Given the description of an element on the screen output the (x, y) to click on. 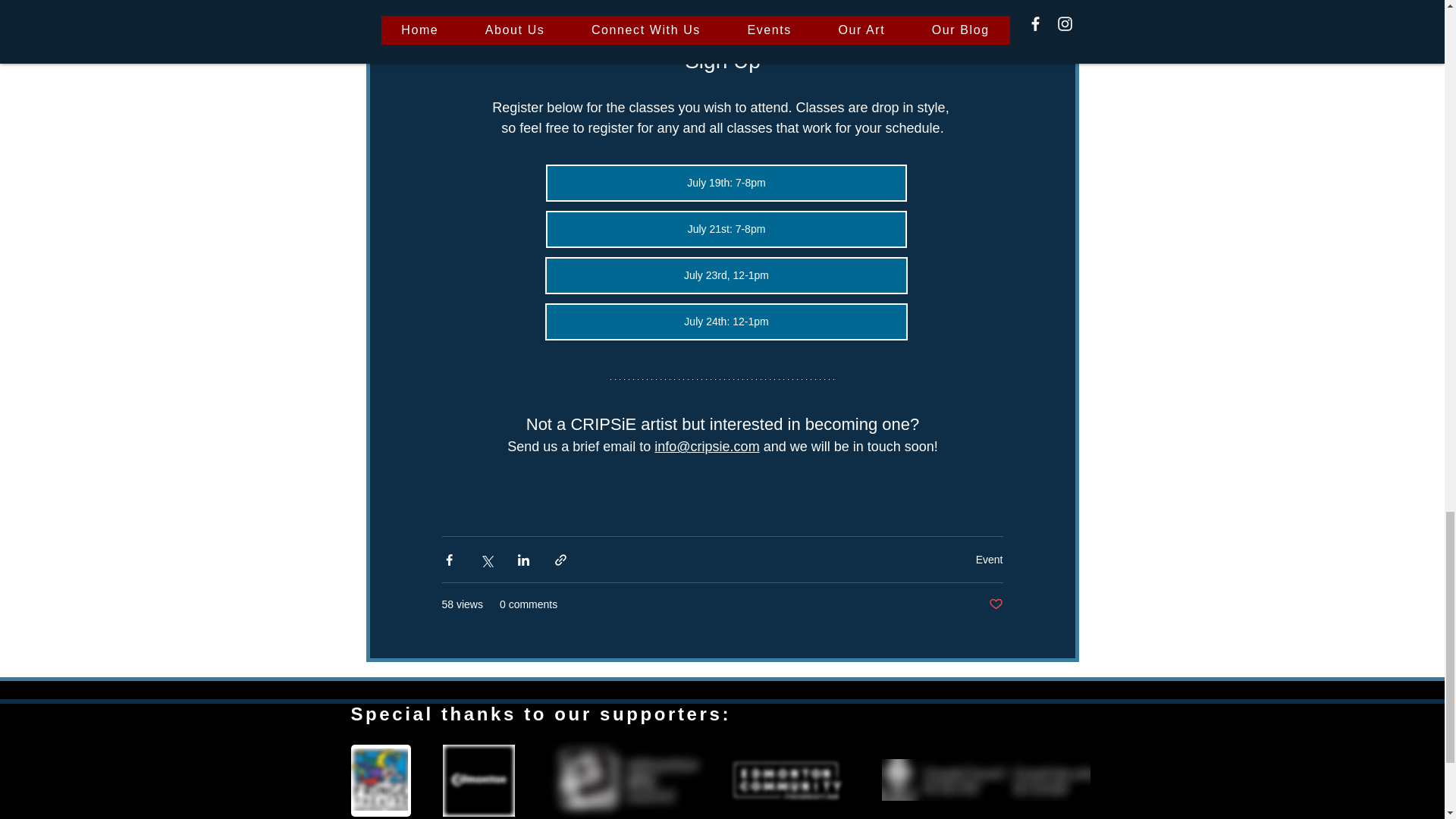
July 23rd, 12-1pm (725, 275)
Event (989, 559)
Post not marked as liked (995, 604)
July 19th: 7-8pm (726, 182)
July 21st: 7-8pm (726, 229)
July 24th: 12-1pm (725, 321)
